Given the description of an element on the screen output the (x, y) to click on. 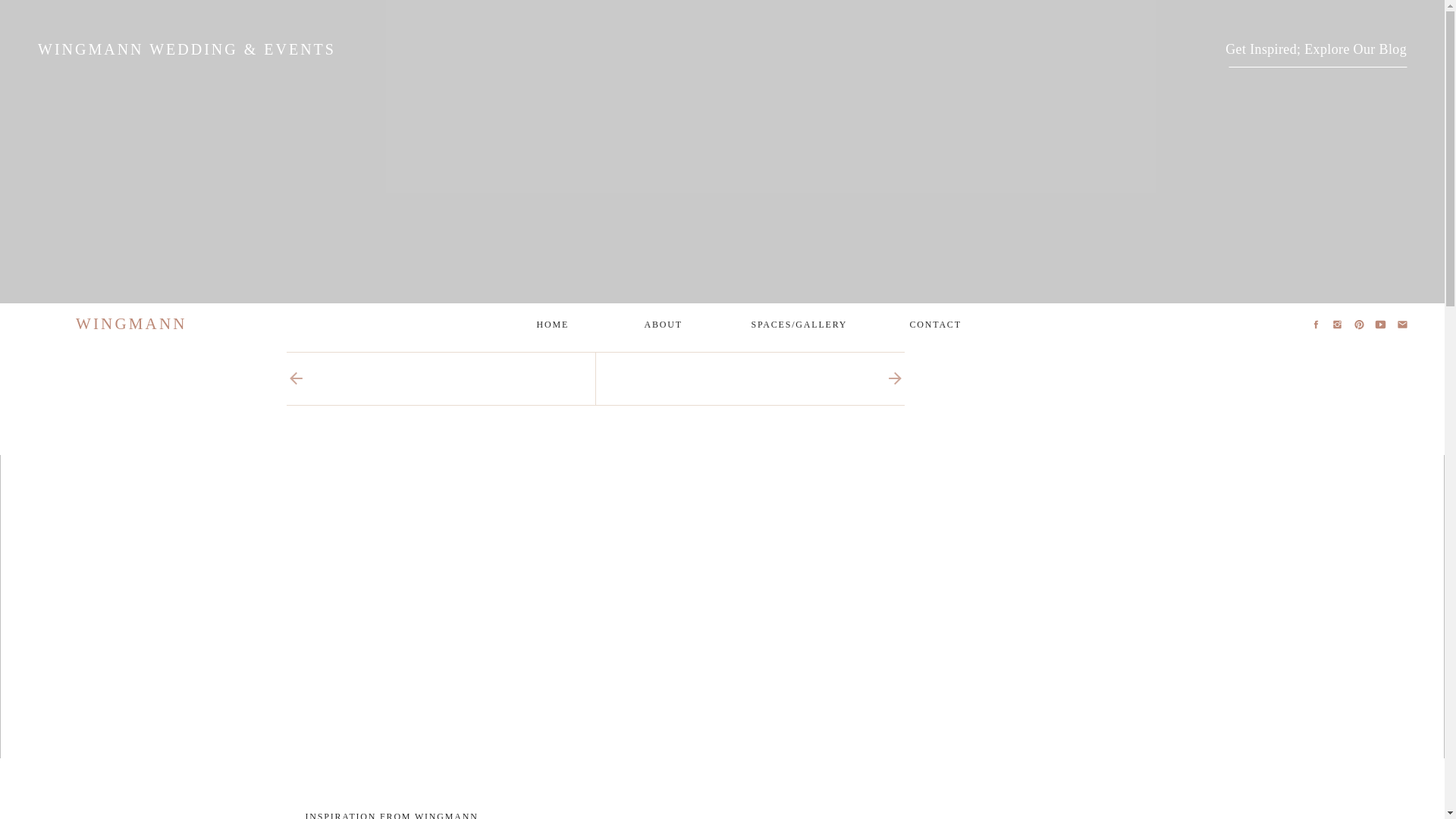
HOME (552, 323)
ABOUT (661, 323)
CONTACT (934, 323)
WINGMANN (152, 324)
